Given the description of an element on the screen output the (x, y) to click on. 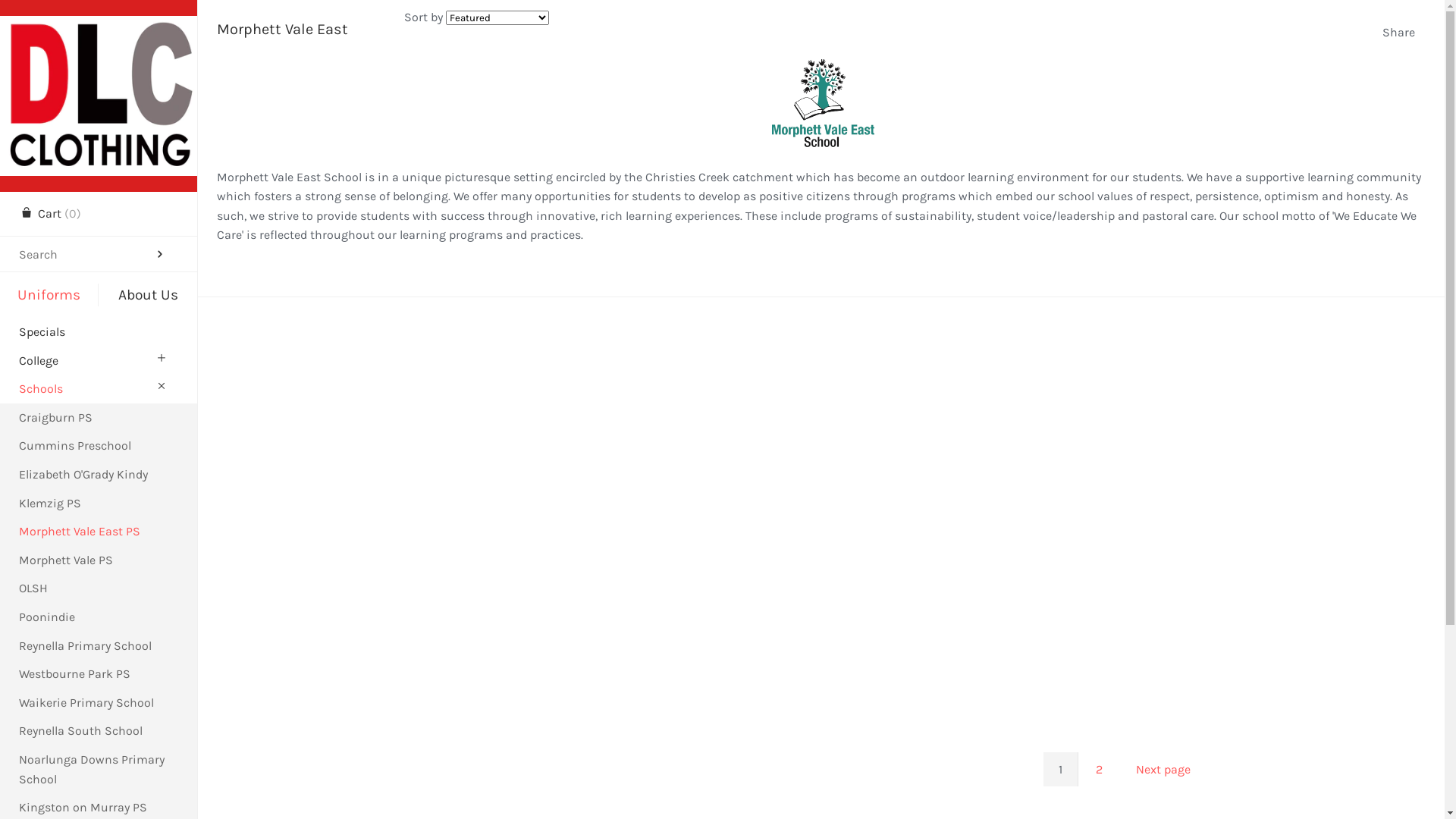
Craigburn PS Element type: text (98, 417)
College Element type: text (98, 360)
Next page Element type: text (1162, 769)
Noarlunga Downs Primary School Element type: text (98, 769)
Specials Element type: text (98, 331)
Elizabeth O'Grady Kindy Element type: text (98, 474)
Morphett Vale PS Element type: text (98, 560)
Schools Element type: text (98, 388)
Waikerie Primary School Element type: text (98, 702)
Cummins Preschool Element type: text (98, 445)
Poonindie Element type: text (98, 616)
Morphett Vale East PS Element type: text (98, 531)
Reynella Primary School Element type: text (98, 645)
Cart (0) Element type: text (49, 213)
DLC Clothing Element type: hover (98, 28)
Reynella South School Element type: text (98, 730)
2 Element type: text (1098, 769)
OLSH Element type: text (98, 588)
Westbourne Park PS Element type: text (98, 673)
Klemzig PS Element type: text (98, 503)
